Given the description of an element on the screen output the (x, y) to click on. 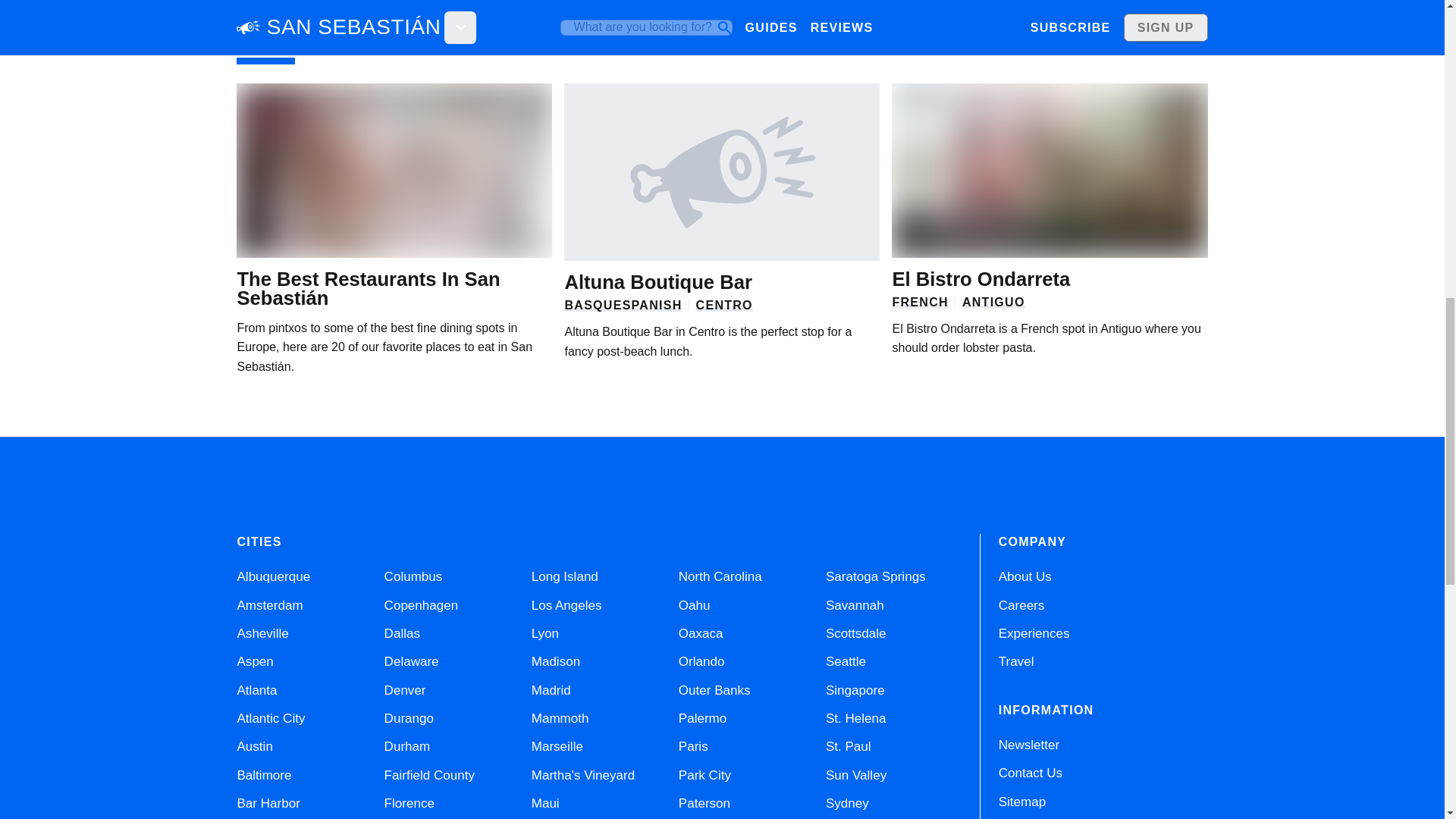
El Bistro Ondarreta (980, 278)
ANTIGUO (993, 302)
Altuna Boutique Bar (657, 281)
Atlanta (255, 690)
CENTRO (723, 304)
Aspen (254, 661)
Atlantic City (269, 718)
BASQUE (592, 304)
Asheville (261, 633)
SPANISH (652, 304)
